Given the description of an element on the screen output the (x, y) to click on. 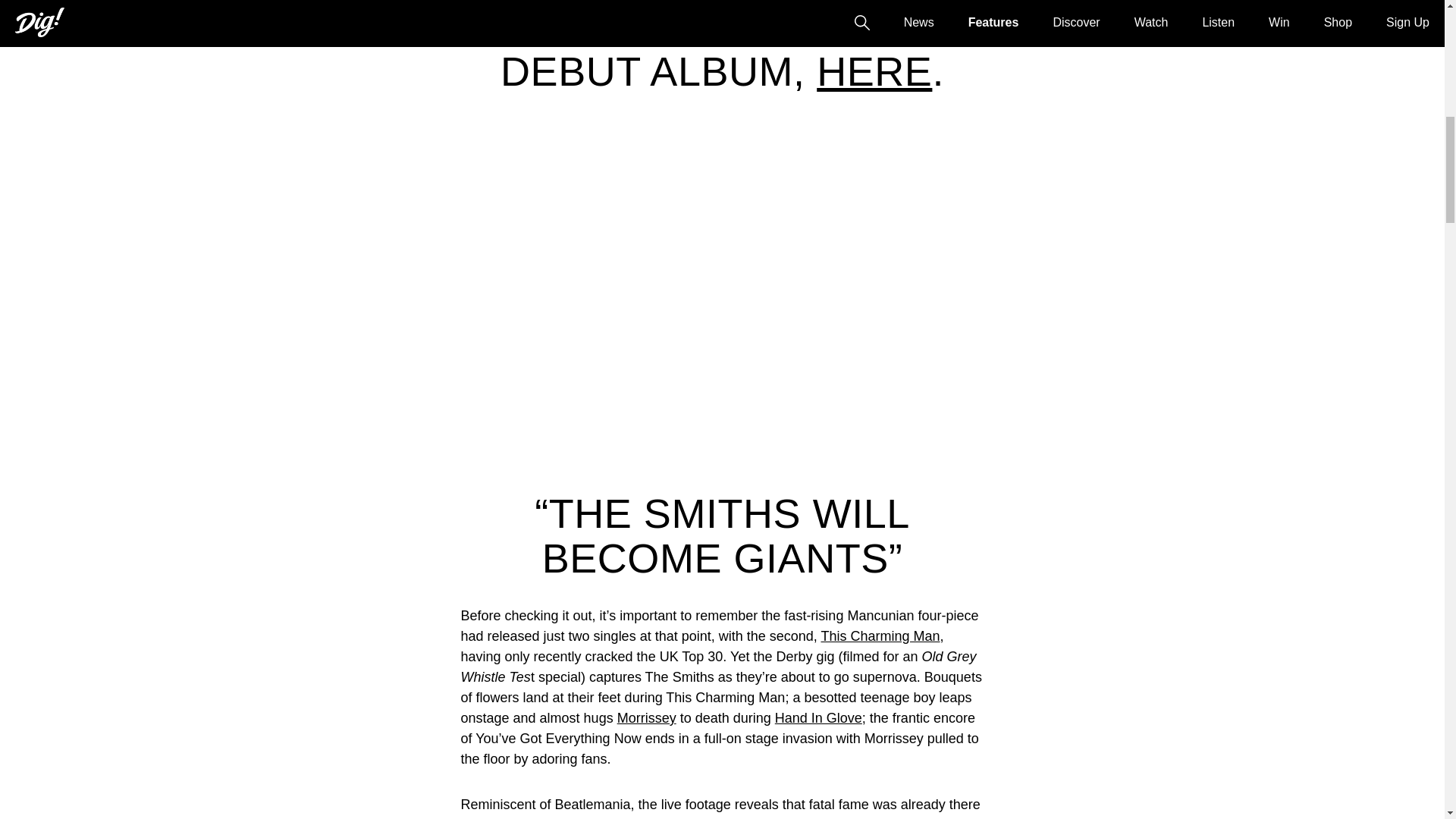
Morrissey (647, 717)
HERE (873, 71)
This Charming Man (880, 635)
Hand In Glove (817, 717)
